Given the description of an element on the screen output the (x, y) to click on. 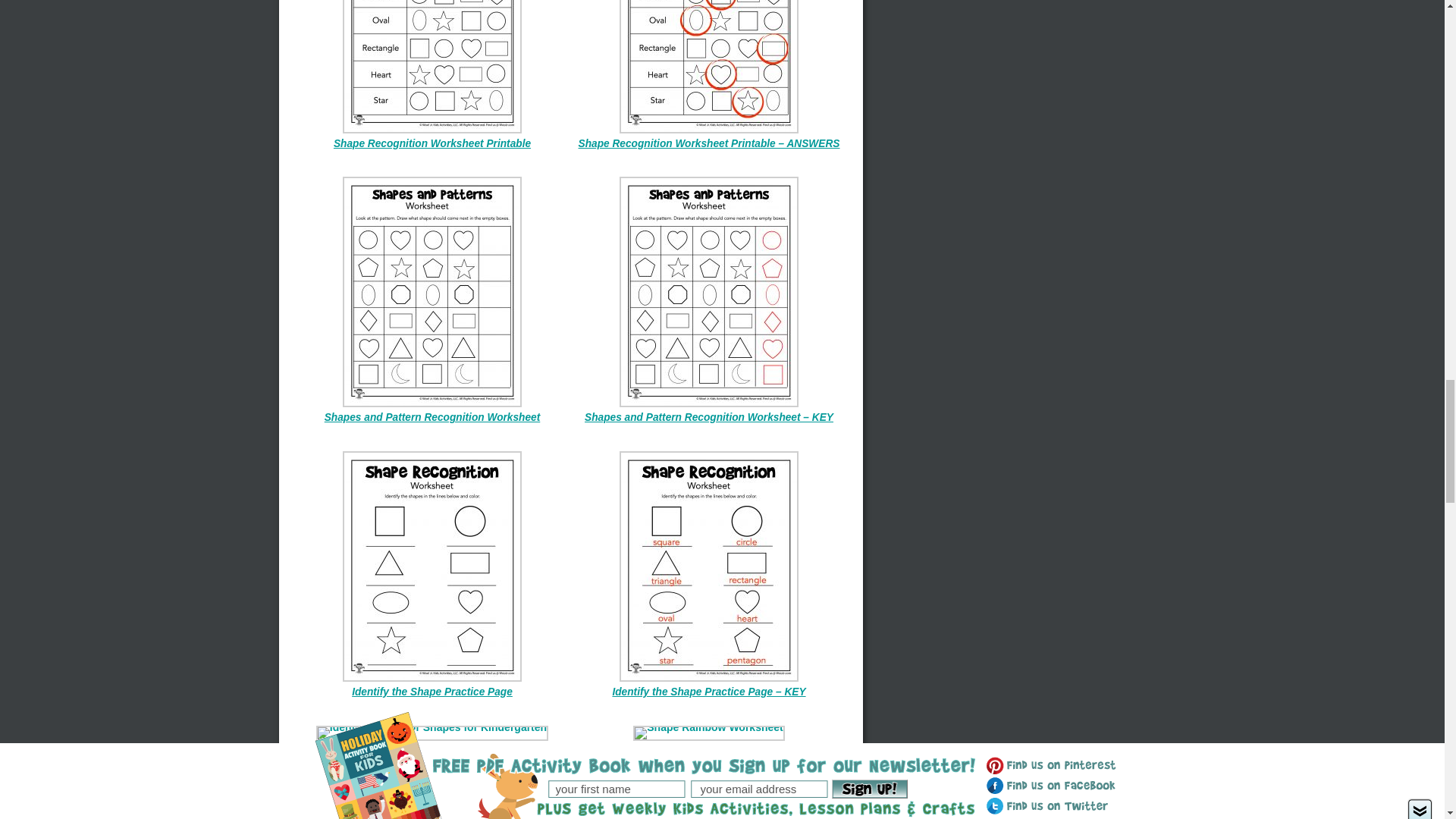
Identify the Shape Practice Page (432, 691)
Shape Recognition Worksheet Printable (432, 143)
Shapes and Pattern Recognition Worksheet (432, 417)
Shapes and Pattern Recognition Worksheet - KEY (708, 417)
Identify and Color Shapes for Kindergarten (432, 750)
Shape Recognition Worksheet Printable - ANSWERS (709, 143)
Identify the Shape Practice Page - KEY (708, 691)
